Given the description of an element on the screen output the (x, y) to click on. 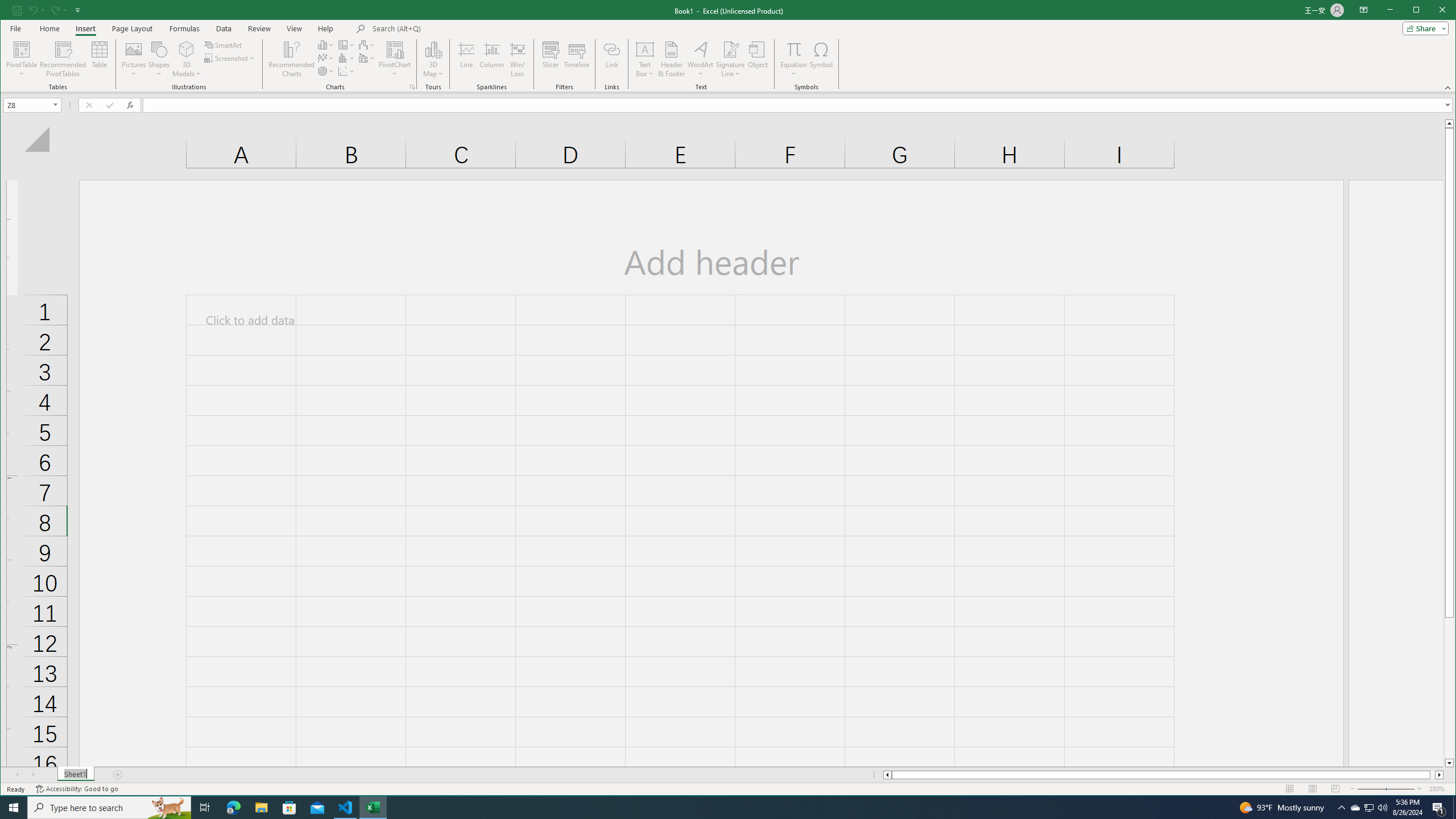
3D Map (432, 48)
Screenshot (229, 57)
PivotChart (394, 59)
WordArt (699, 59)
Q2790: 100% (1382, 807)
PivotTable (22, 48)
Column (492, 59)
Insert Combo Chart (366, 57)
User Promoted Notification Area (1368, 807)
